Given the description of an element on the screen output the (x, y) to click on. 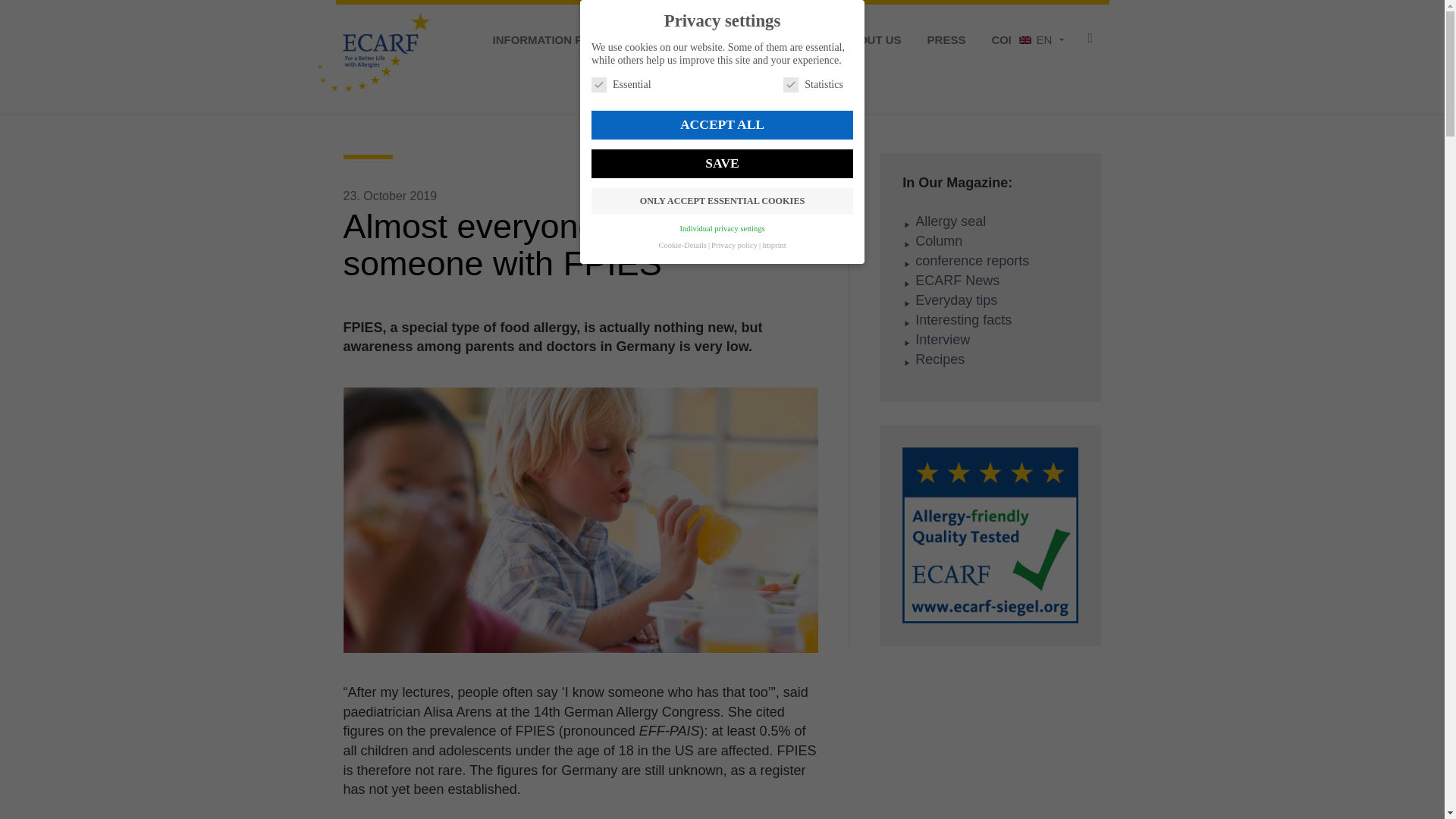
INFORMATION PORTAL (561, 40)
MAGAZINE (686, 40)
Information Portal (561, 40)
